Given the description of an element on the screen output the (x, y) to click on. 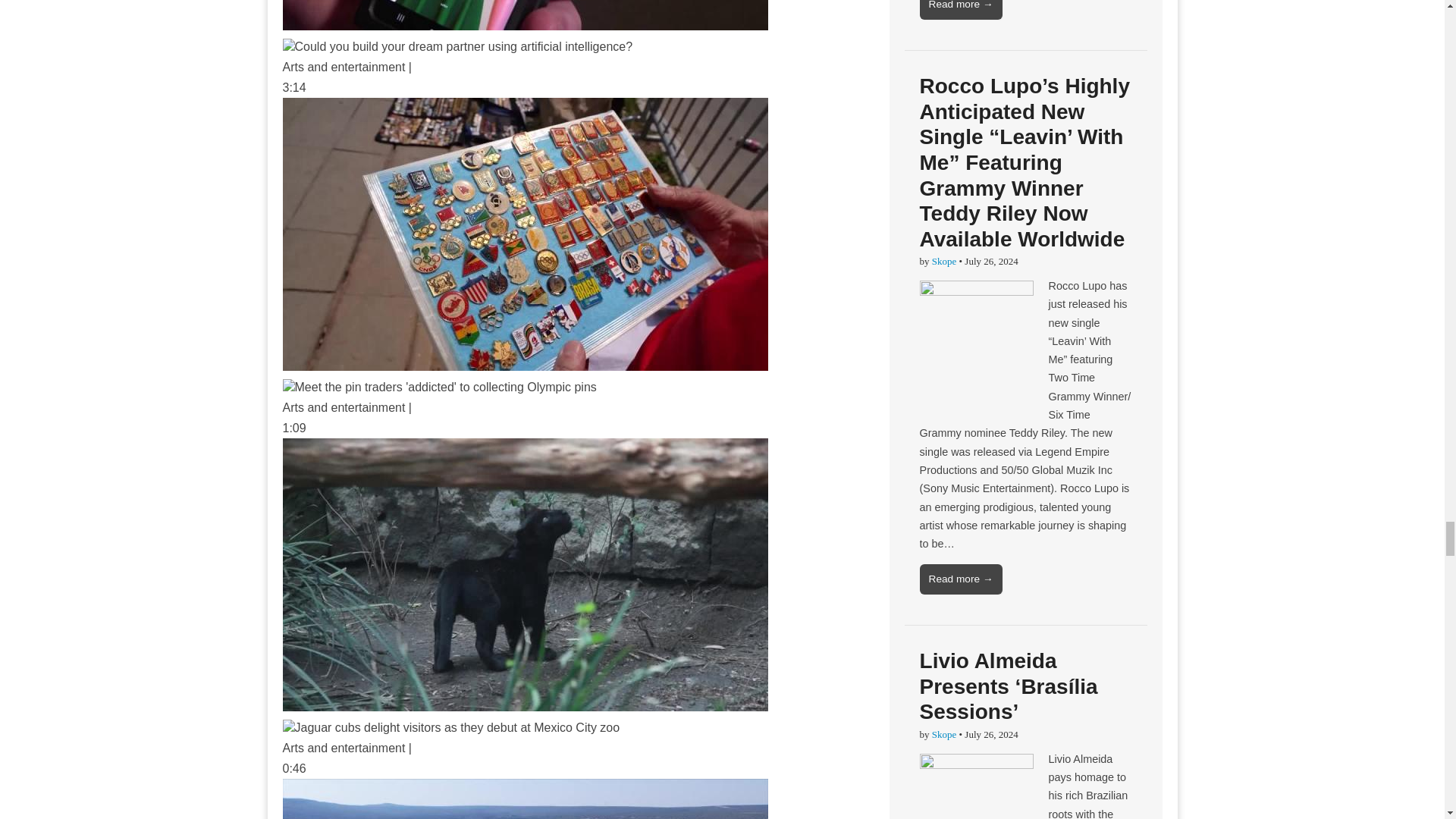
Posts by Skope (943, 260)
